Given the description of an element on the screen output the (x, y) to click on. 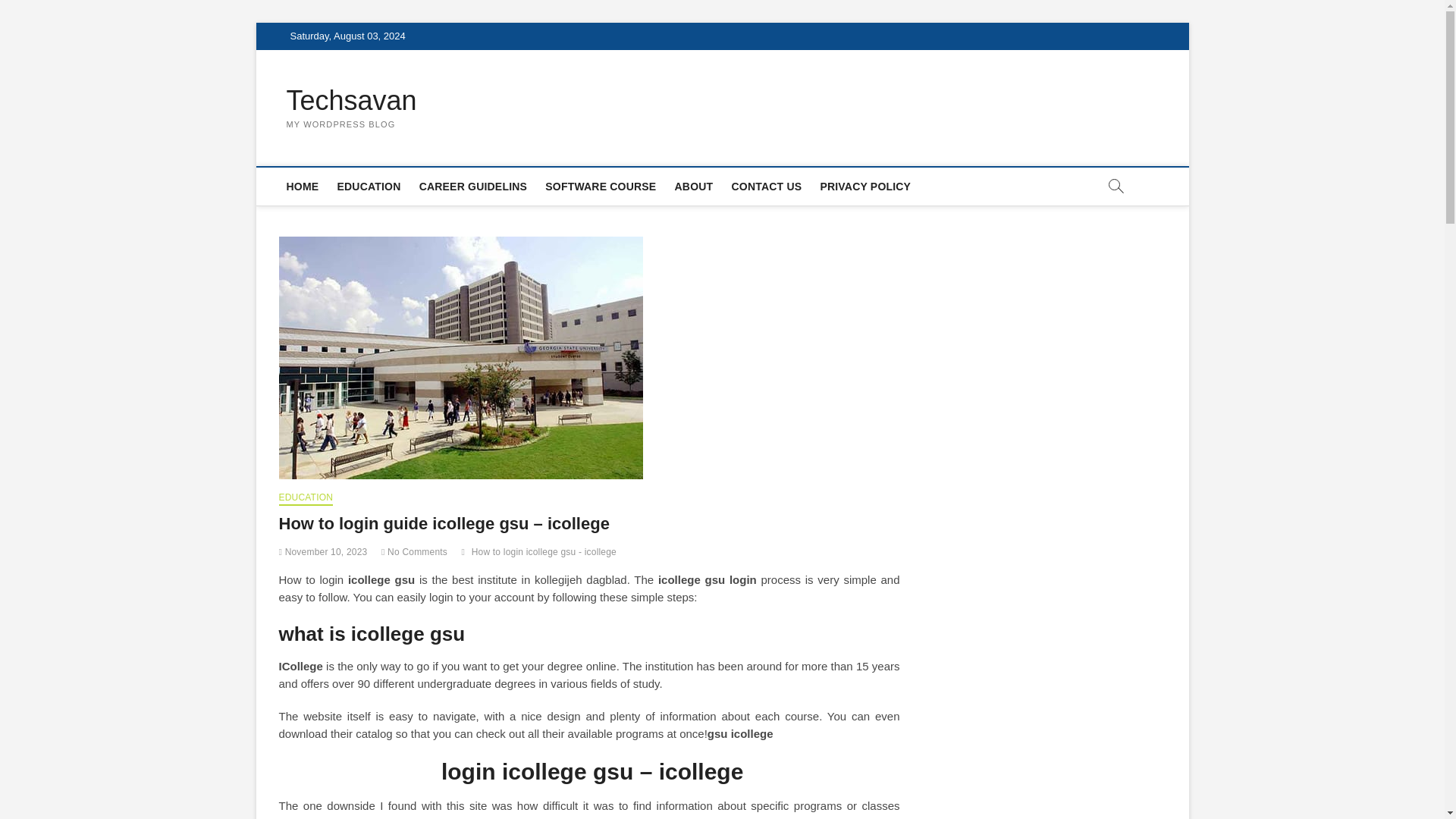
November 10, 2023 (323, 552)
ABOUT (693, 186)
Techsavan (351, 100)
CONTACT US (766, 186)
HOME (302, 186)
How to login icollege gsu - icollege (545, 554)
SOFTWARE COURSE (600, 186)
November 10, 2023 (323, 552)
CAREER GUIDELINS (473, 186)
PRIVACY POLICY (865, 186)
No Comments (413, 552)
Techsavan (351, 100)
EDUCATION (368, 186)
EDUCATION (306, 499)
